Given the description of an element on the screen output the (x, y) to click on. 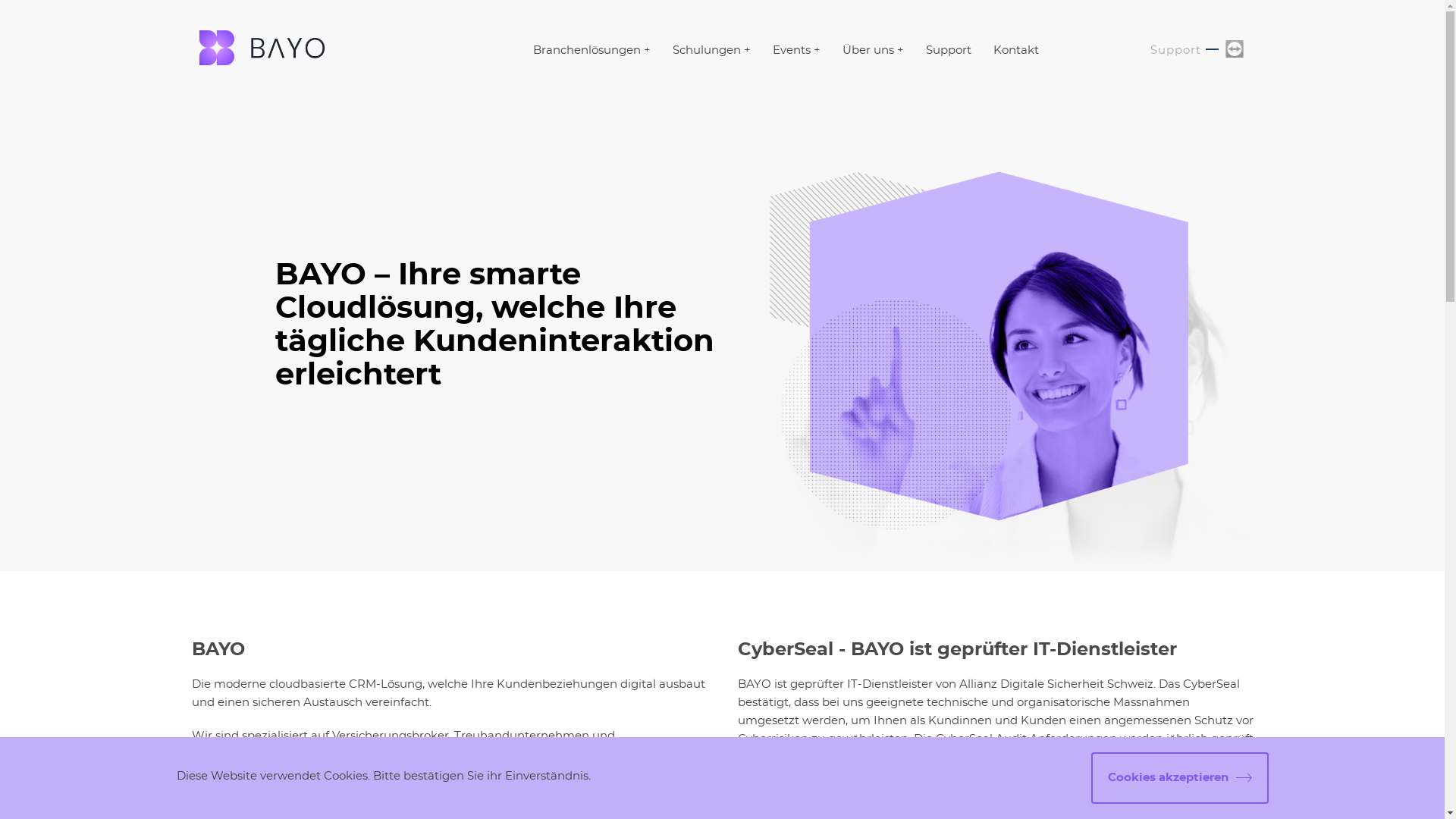
Kontakt Element type: text (1015, 50)
Events + Element type: text (795, 50)
Support Element type: text (1174, 50)
Support Element type: text (947, 50)
Cookies akzeptieren Element type: text (1178, 777)
Schulungen + Element type: text (710, 50)
